Given the description of an element on the screen output the (x, y) to click on. 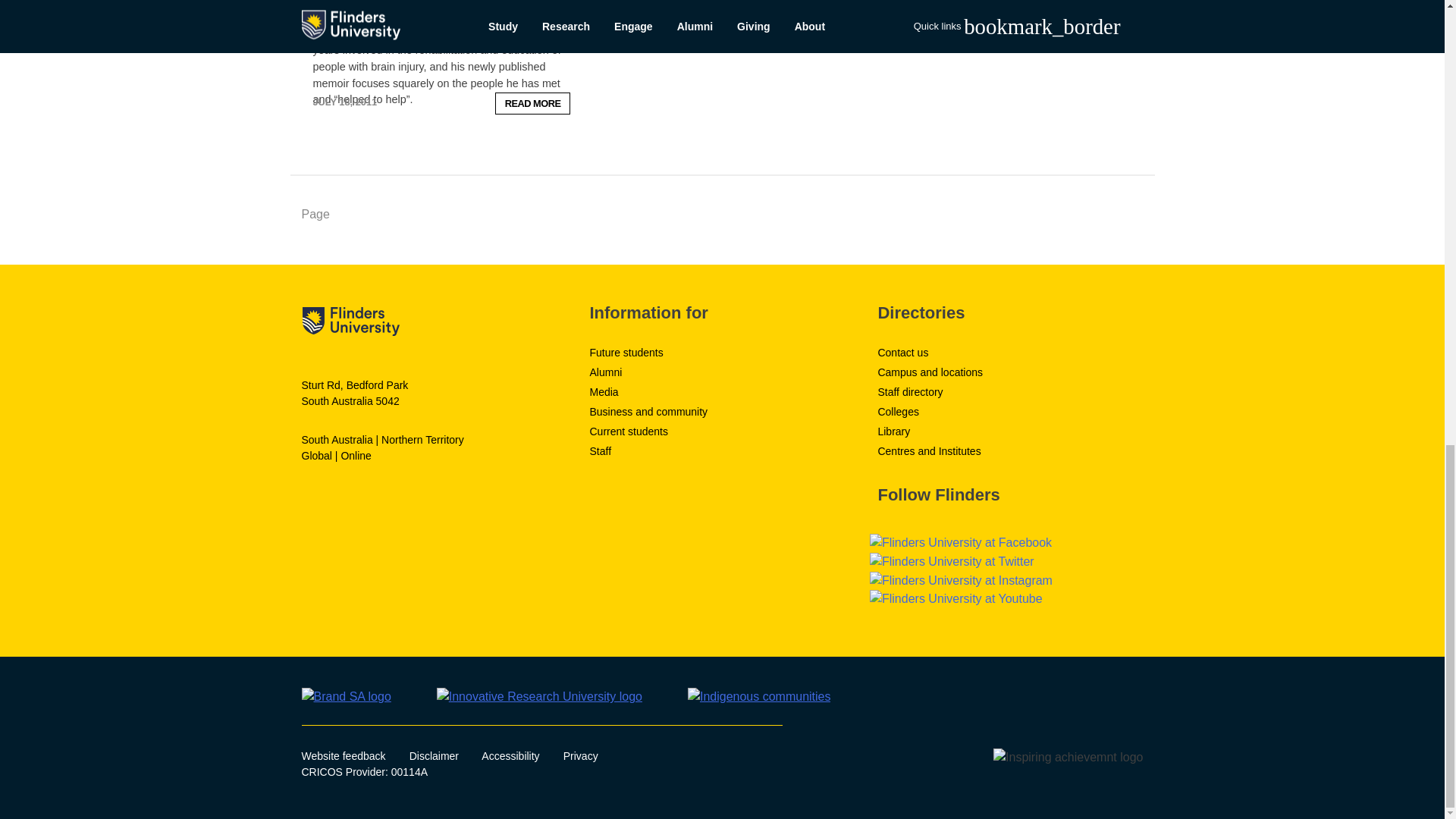
Media (603, 391)
Library (893, 431)
Business and community (648, 411)
Staff (600, 451)
Contact us (902, 352)
Colleges (897, 411)
Campus and locations (929, 372)
READ MORE (532, 103)
Current students (628, 431)
Staff directory (909, 391)
Future students (625, 352)
Alumni (605, 372)
